Given the description of an element on the screen output the (x, y) to click on. 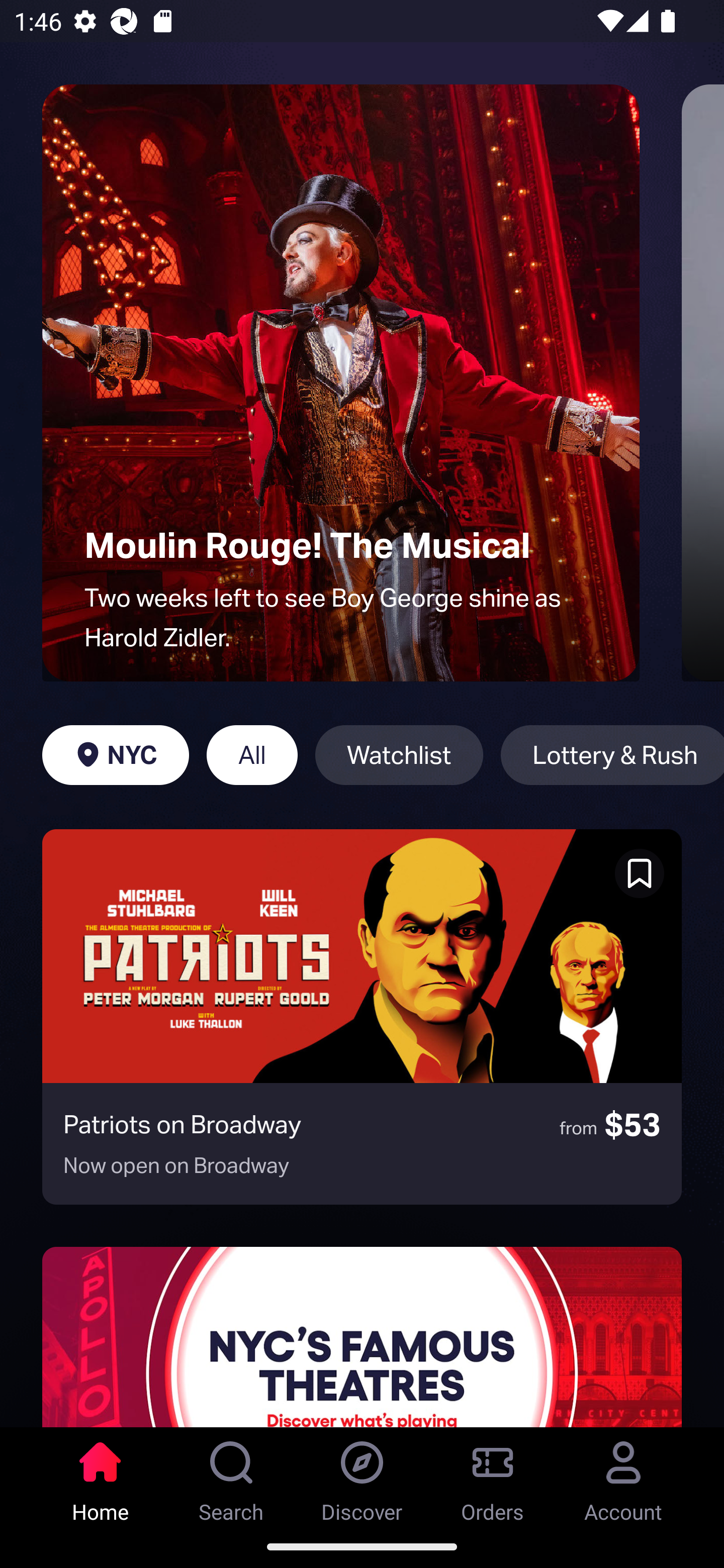
NYC (114, 754)
All (251, 754)
Watchlist (398, 754)
Lottery & Rush (612, 754)
Patriots on Broadway from $53 Now open on Broadway (361, 1016)
Search (230, 1475)
Discover (361, 1475)
Orders (492, 1475)
Account (623, 1475)
